Given the description of an element on the screen output the (x, y) to click on. 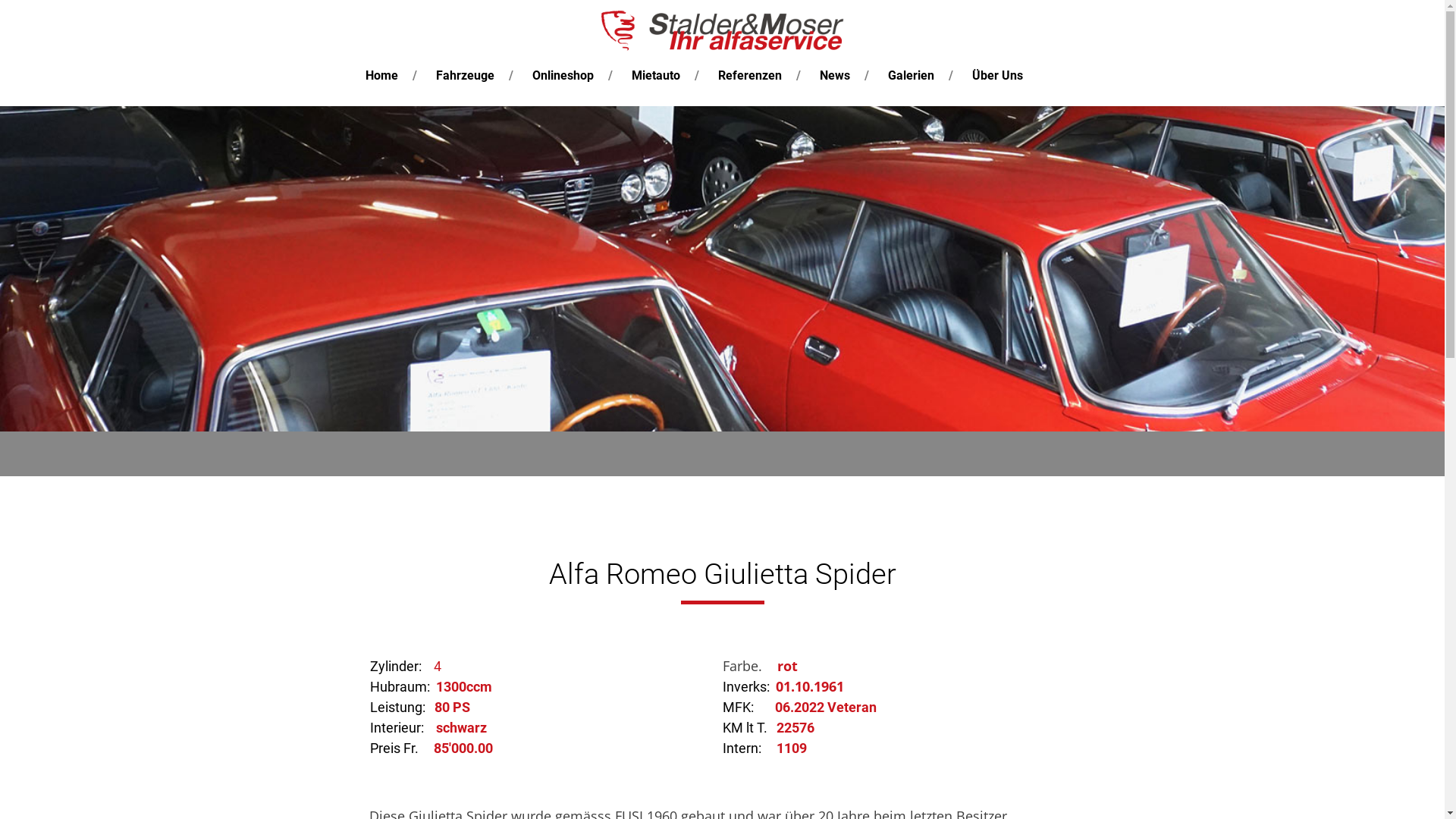
Fahrzeuge Element type: text (465, 75)
Home Element type: text (380, 75)
Galerien Element type: text (911, 75)
Onlineshop Element type: text (561, 75)
Mietauto Element type: text (655, 75)
Referenzen Element type: text (749, 75)
News Element type: text (834, 75)
